Given the description of an element on the screen output the (x, y) to click on. 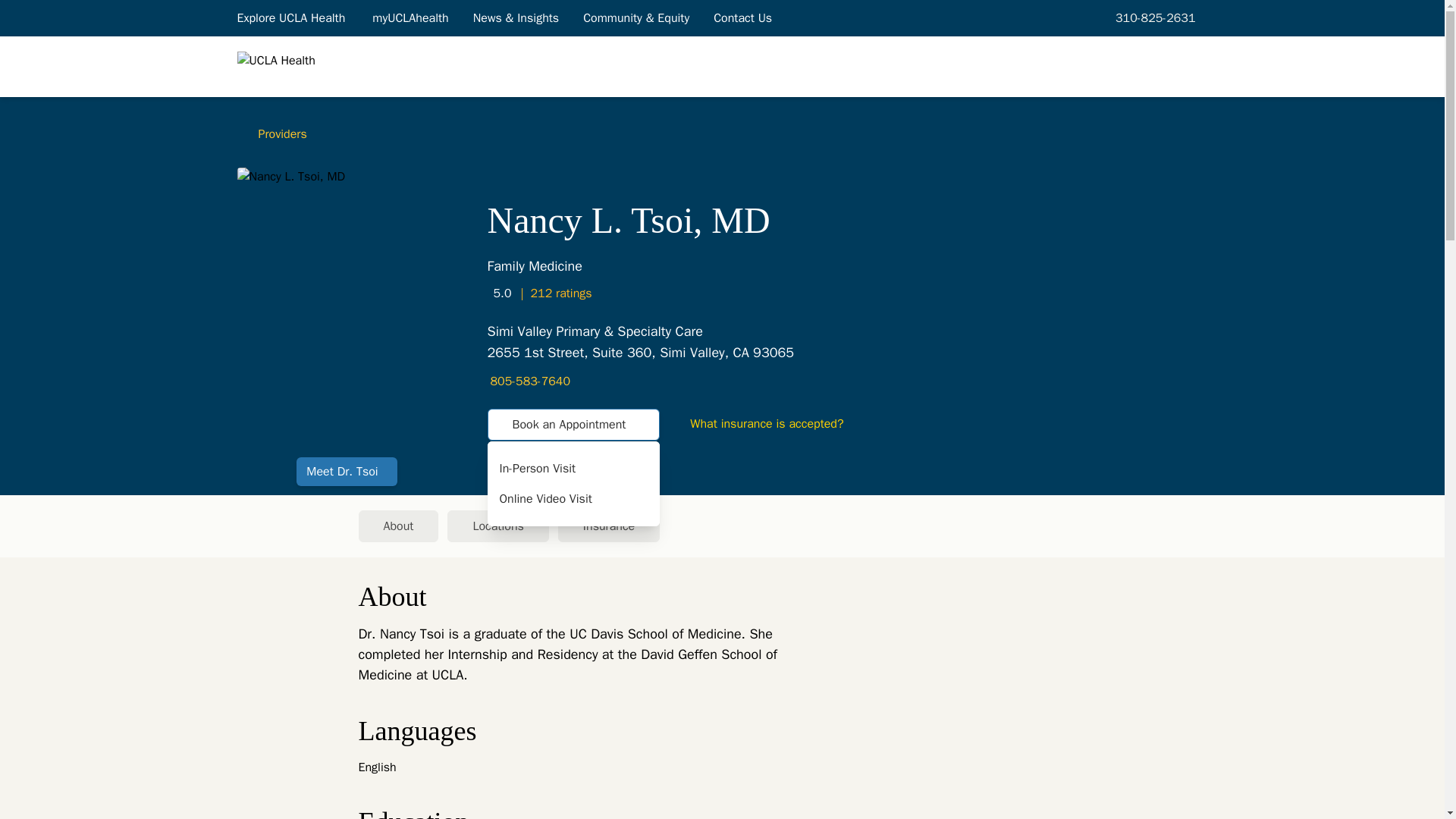
Contact Us (742, 17)
310-825-2631 (1152, 17)
Explore UCLA Health (291, 17)
myUCLAhealth Login. (409, 17)
myUCLAhealth (722, 526)
Skip to main content (409, 17)
